Given the description of an element on the screen output the (x, y) to click on. 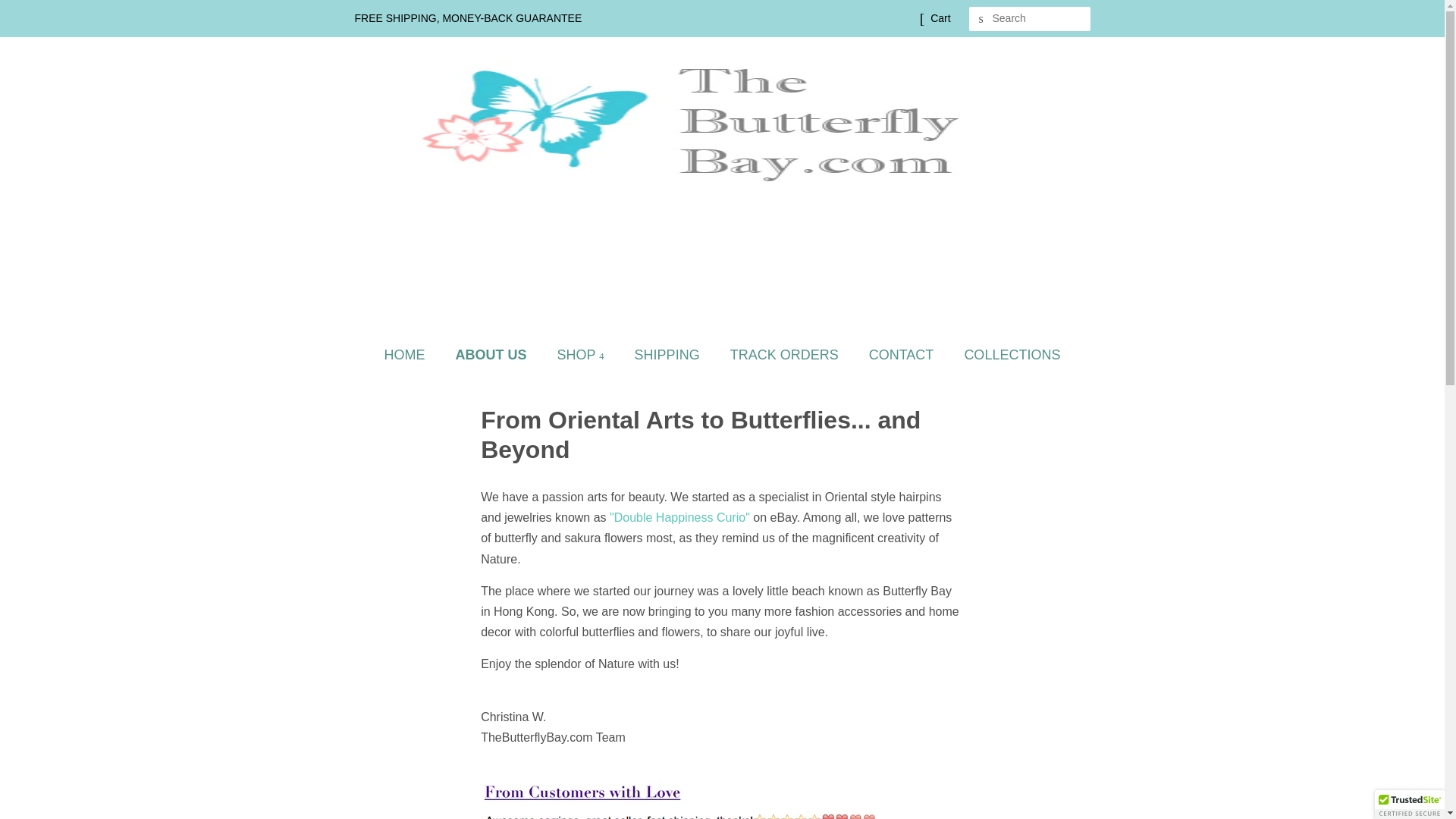
ABOUT US (492, 355)
Double Happiness Curio hairpins and jewelries (679, 517)
Cart (940, 18)
HOME (412, 355)
SEARCH (980, 18)
SHOP (583, 355)
